Given the description of an element on the screen output the (x, y) to click on. 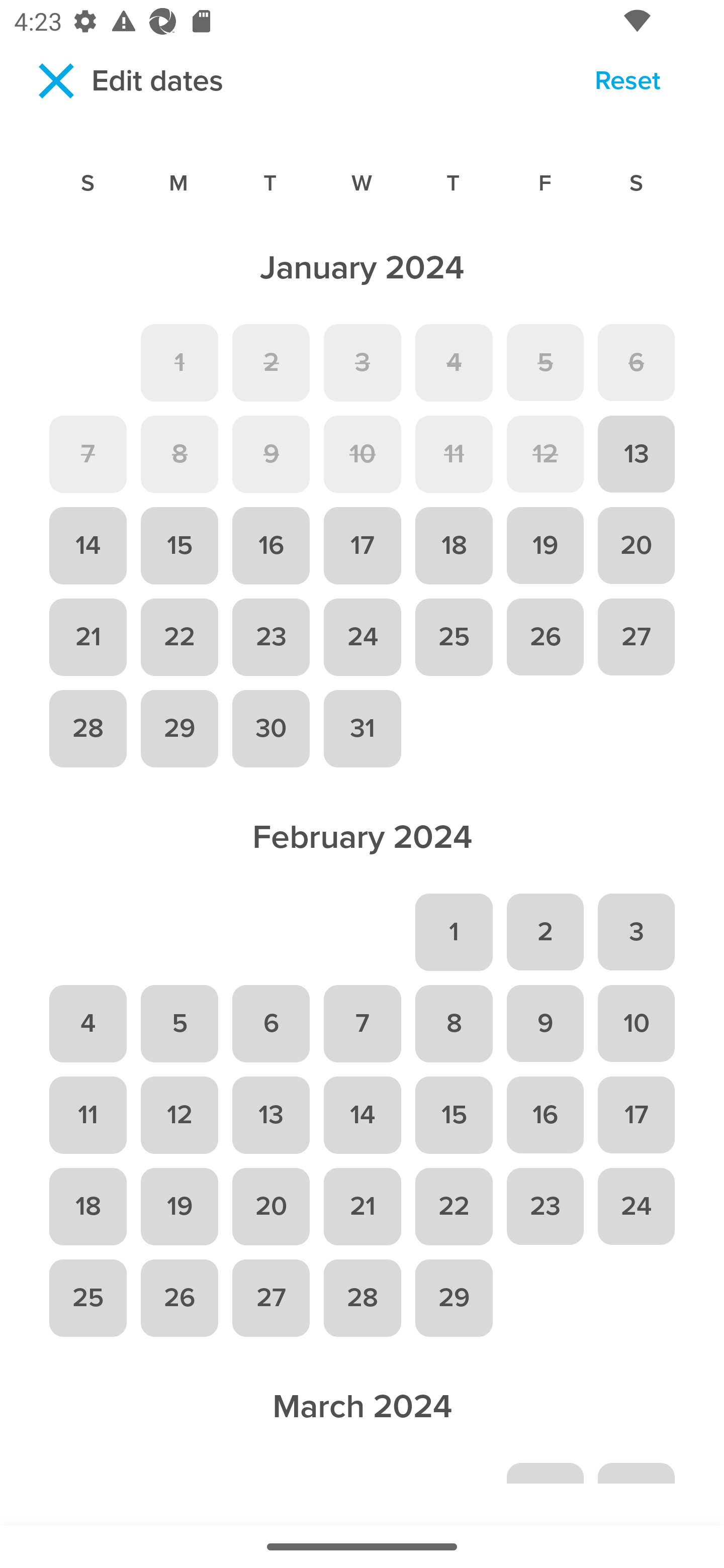
Reset (627, 82)
1 (179, 361)
2 (270, 361)
3 (362, 361)
4 (453, 361)
5 (545, 361)
6 (636, 361)
7 (87, 454)
8 (179, 454)
9 (270, 454)
10 (362, 454)
11 (453, 454)
12 (545, 454)
13 (636, 454)
14 (87, 545)
15 (179, 545)
16 (270, 545)
17 (362, 545)
18 (453, 545)
19 (545, 545)
20 (636, 545)
21 (87, 636)
22 (179, 636)
23 (270, 636)
24 (362, 636)
25 (453, 636)
26 (545, 636)
27 (636, 636)
28 (87, 728)
29 (179, 728)
30 (270, 728)
31 (362, 728)
1 (453, 931)
2 (545, 931)
3 (636, 931)
4 (87, 1023)
5 (179, 1023)
6 (270, 1023)
7 (362, 1023)
8 (453, 1023)
9 (545, 1023)
10 (636, 1023)
11 (87, 1114)
12 (179, 1114)
13 (270, 1114)
14 (362, 1114)
15 (453, 1114)
16 (545, 1114)
17 (636, 1114)
18 (87, 1206)
19 (179, 1206)
20 (270, 1206)
21 (362, 1206)
22 (453, 1206)
23 (545, 1206)
24 (636, 1206)
25 (87, 1297)
26 (179, 1297)
27 (270, 1297)
28 (362, 1297)
29 (453, 1297)
